Given the description of an element on the screen output the (x, y) to click on. 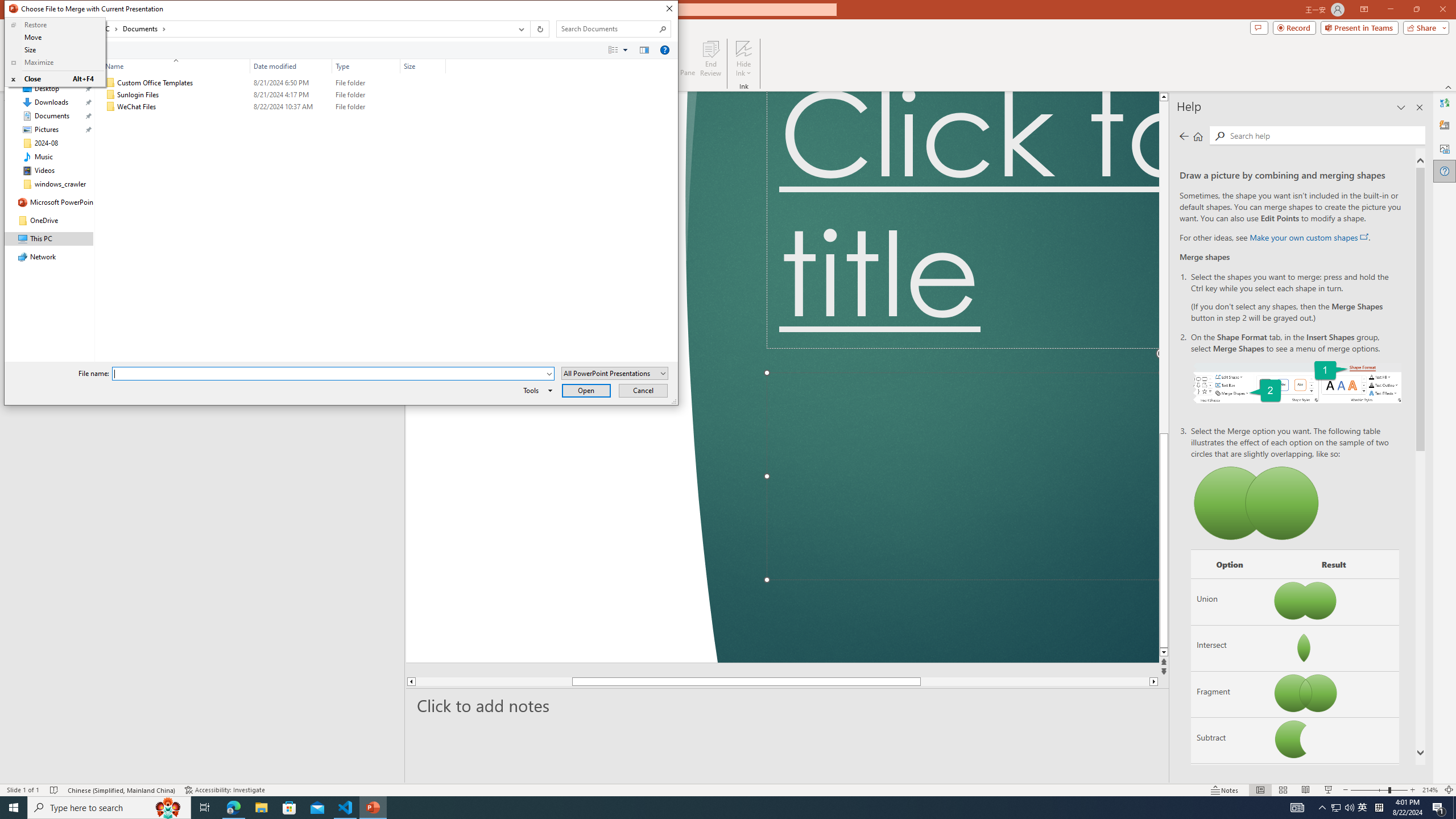
AutomationID: 4105 (1297, 807)
Size (422, 65)
User Promoted Notification Area (1342, 807)
Tools (535, 390)
Up band toolbar (57, 30)
Microsoft Store (289, 807)
All locations (75, 28)
Q2790: 100% (1349, 807)
Page up (1245, 266)
Alt Text (1444, 147)
Notification Chevron (1322, 807)
